Given the description of an element on the screen output the (x, y) to click on. 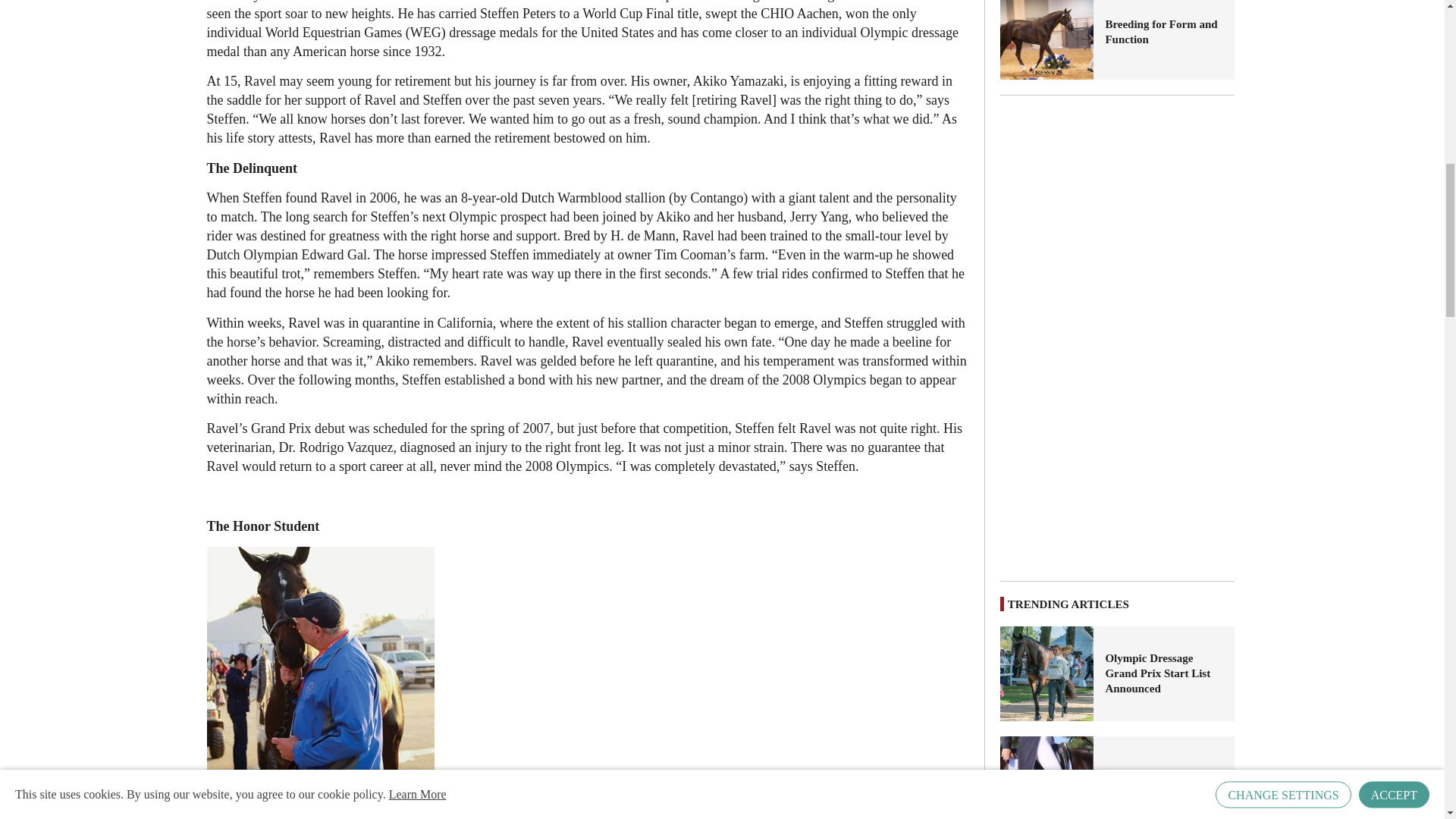
Breeding for Form and Function (1047, 39)
Olympic Dressage Grand Prix Start List Announced (1047, 673)
Breeding for Form and Function (1164, 31)
